Given the description of an element on the screen output the (x, y) to click on. 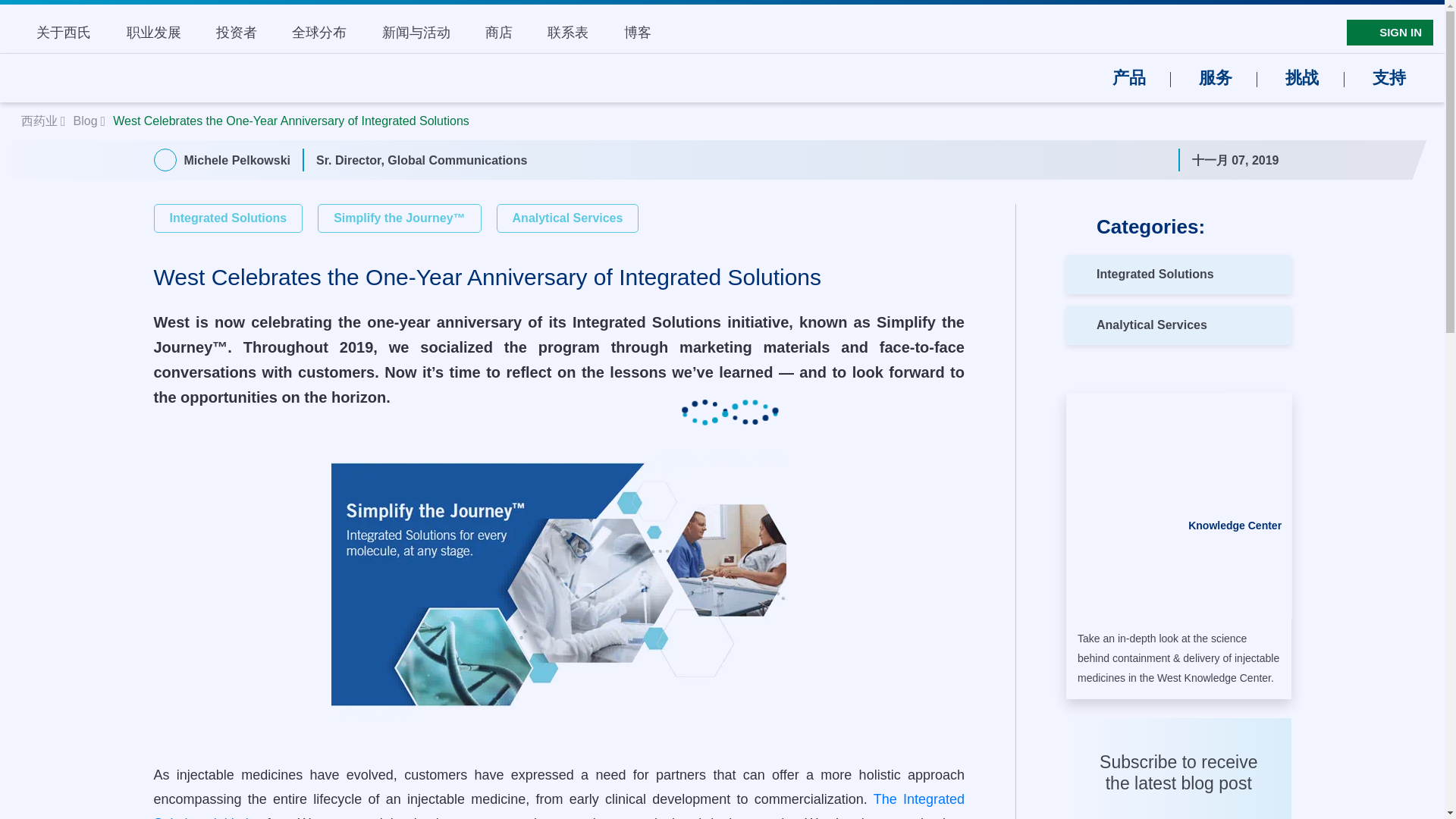
SIGN IN (1390, 32)
blog (87, 120)
westpharma (41, 120)
